Given the description of an element on the screen output the (x, y) to click on. 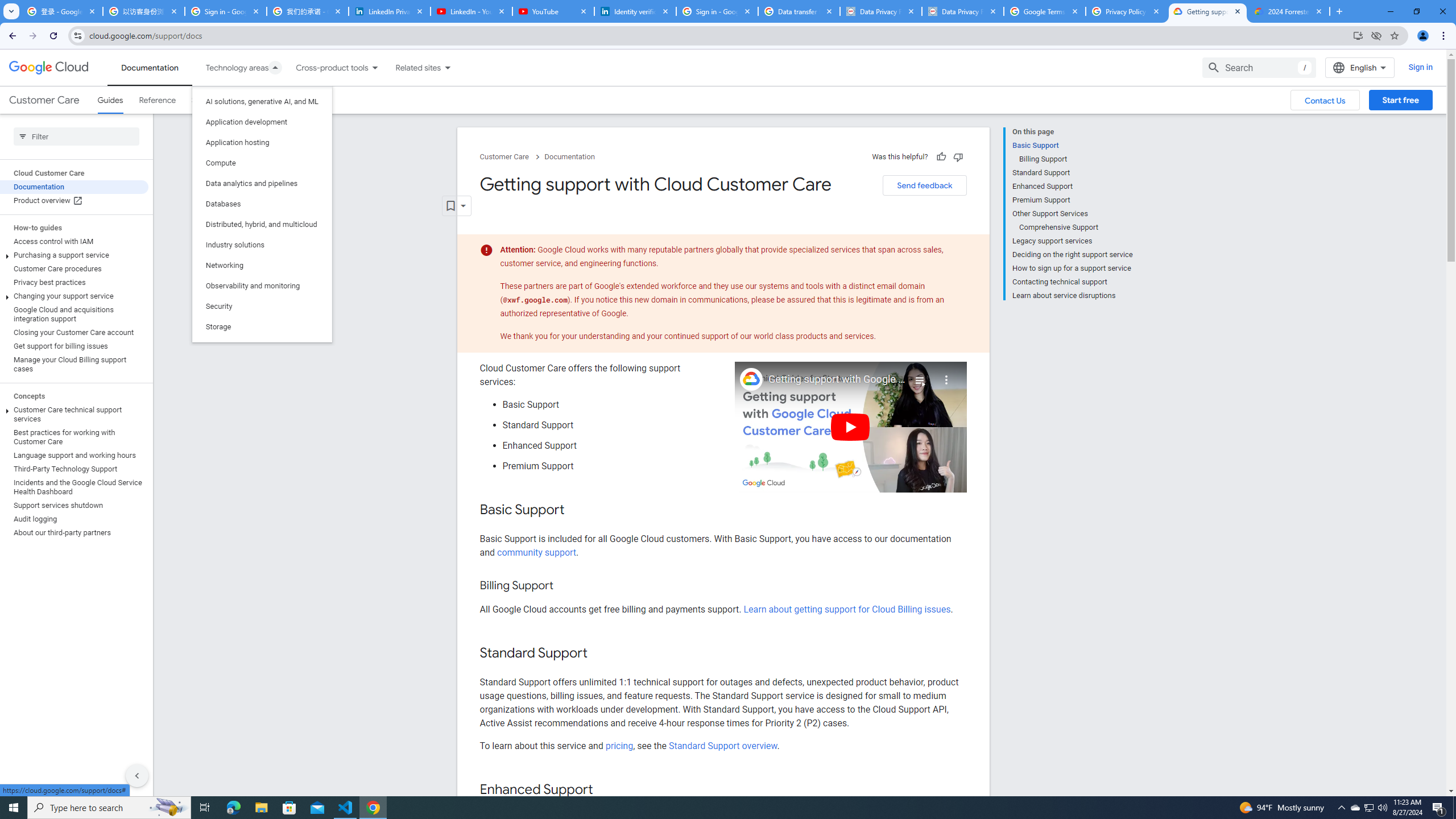
Access control with IAM (74, 241)
Documentation, selected (149, 67)
Legacy support services (1071, 241)
Type to filter (76, 136)
Sign in - Google Accounts (716, 11)
How to sign up for a support service (1071, 268)
About our third-party partners (74, 532)
Comprehensive Support (1075, 227)
Best practices for working with Customer Care (74, 436)
Premium Support (1071, 200)
Documentation (569, 156)
Dropdown menu for Technology areas (274, 67)
Support services shutdown (74, 505)
Basic Support (1071, 145)
